Given the description of an element on the screen output the (x, y) to click on. 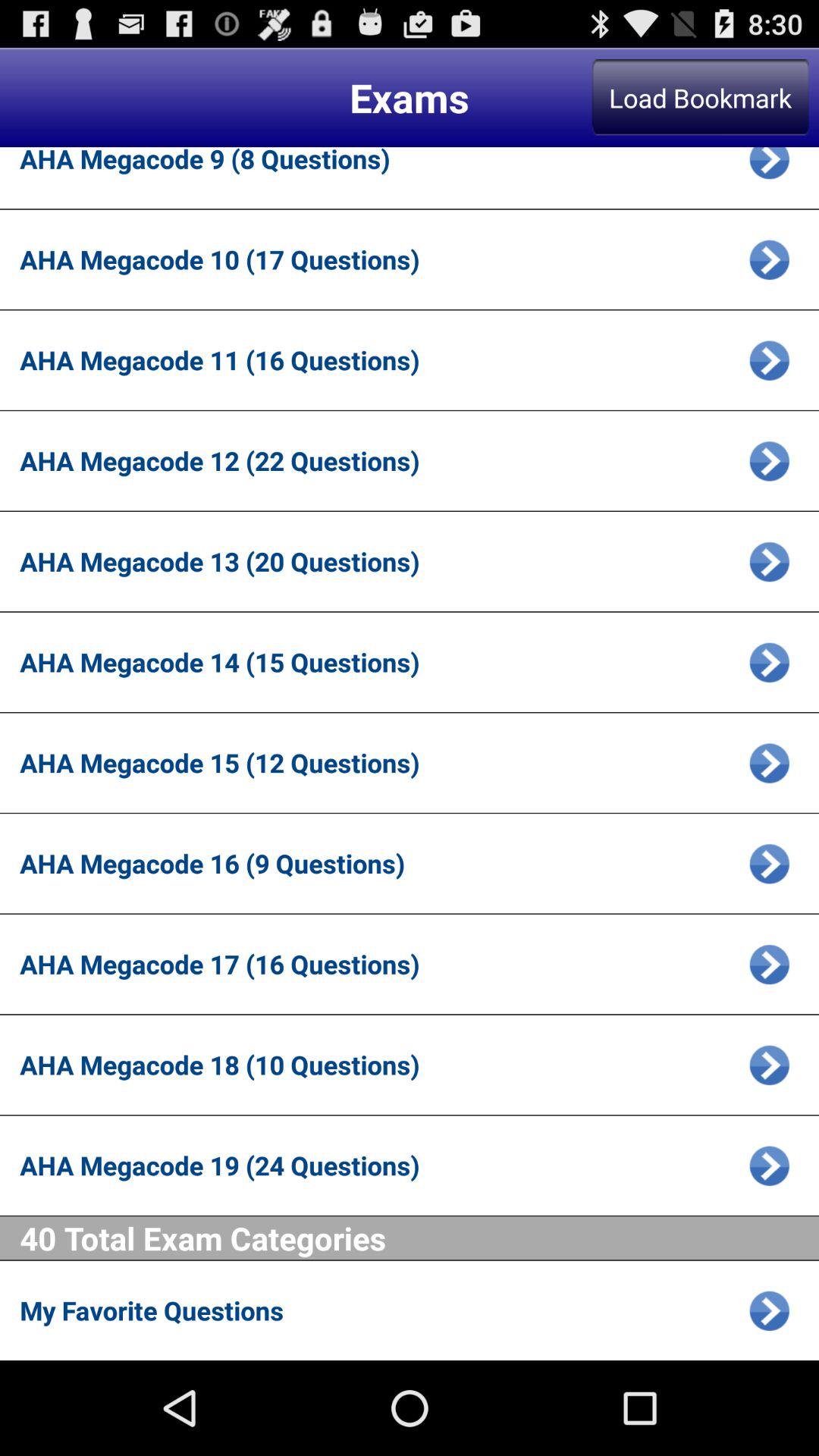
turn on the 40 total exam item (419, 1237)
